Given the description of an element on the screen output the (x, y) to click on. 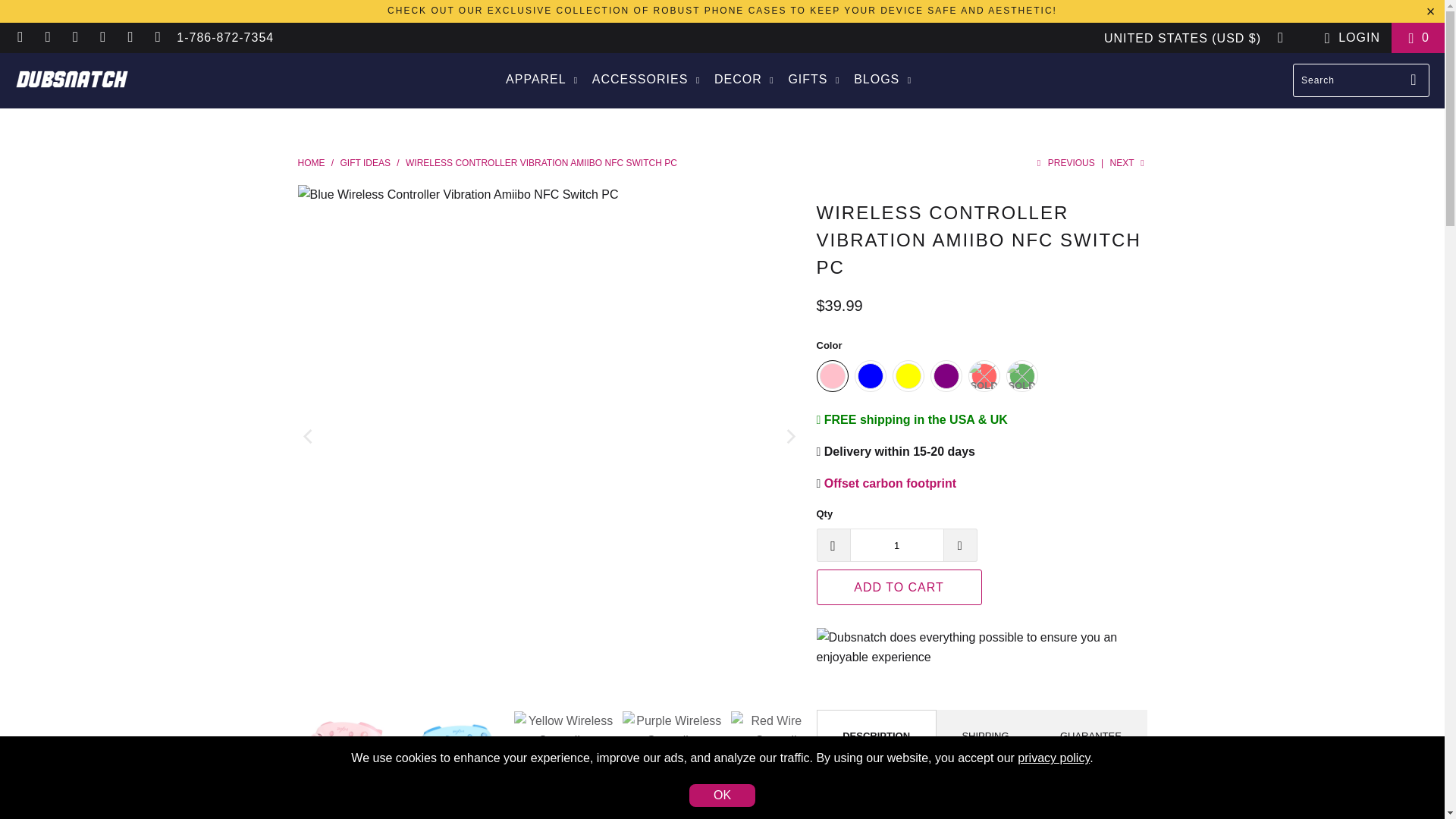
Dubsnatch on YouTube (156, 37)
Dubsnatch on Spotify (102, 37)
Dubsnatch on Instagram (47, 37)
1 (895, 544)
Dubsnatch (71, 80)
Gift Ideas (365, 163)
Next (1128, 163)
Dubsnatch on TikTok (129, 37)
Mobile Phone Cases (722, 9)
Previous (1063, 163)
Dubsnatch on Pinterest (74, 37)
Dubsnatch on Discord (19, 37)
My Account  (1348, 37)
Dubsnatch (310, 163)
